Given the description of an element on the screen output the (x, y) to click on. 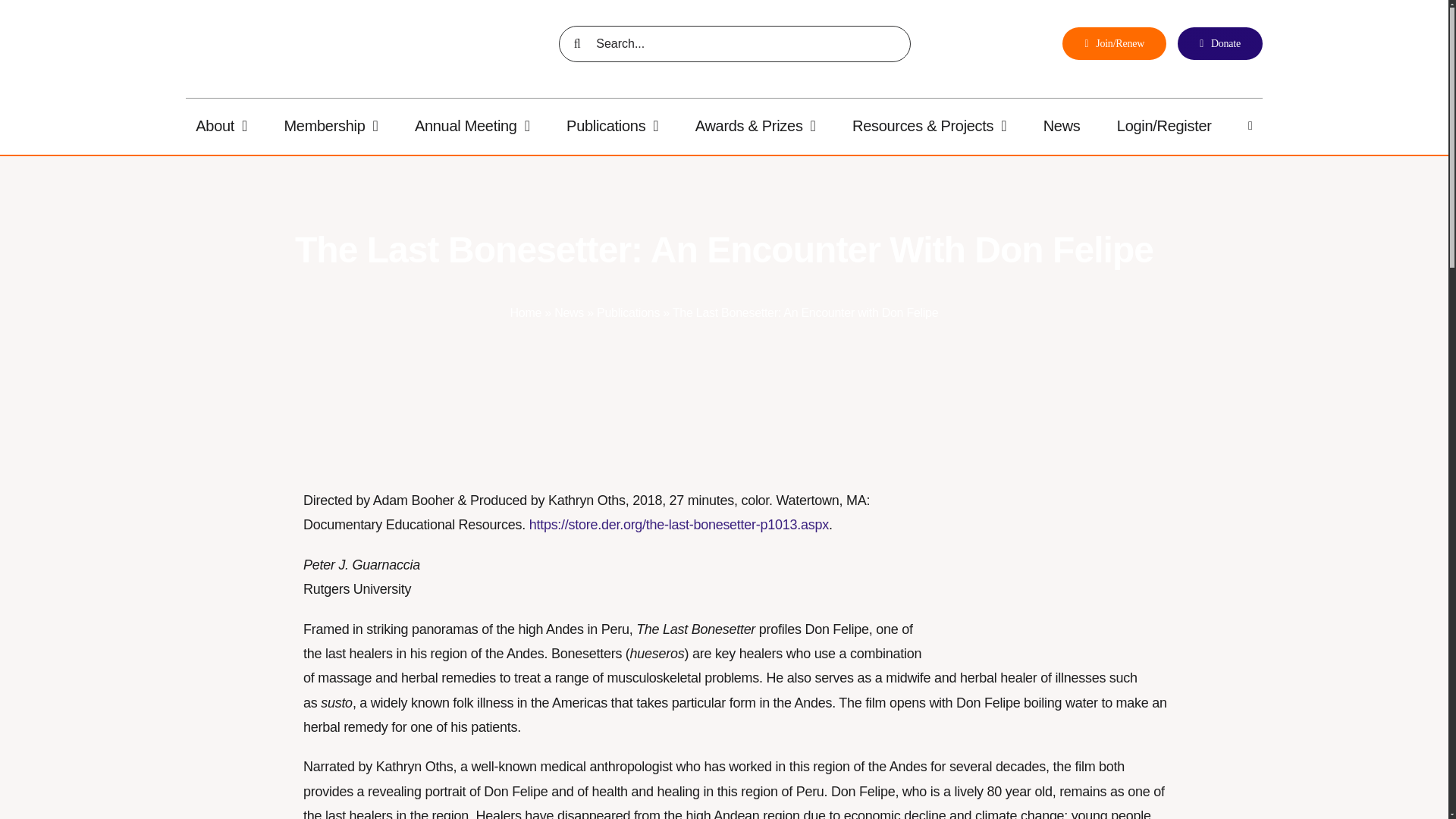
Membership (330, 125)
Annual Meeting (471, 125)
About (221, 125)
Donate (1219, 43)
